Given the description of an element on the screen output the (x, y) to click on. 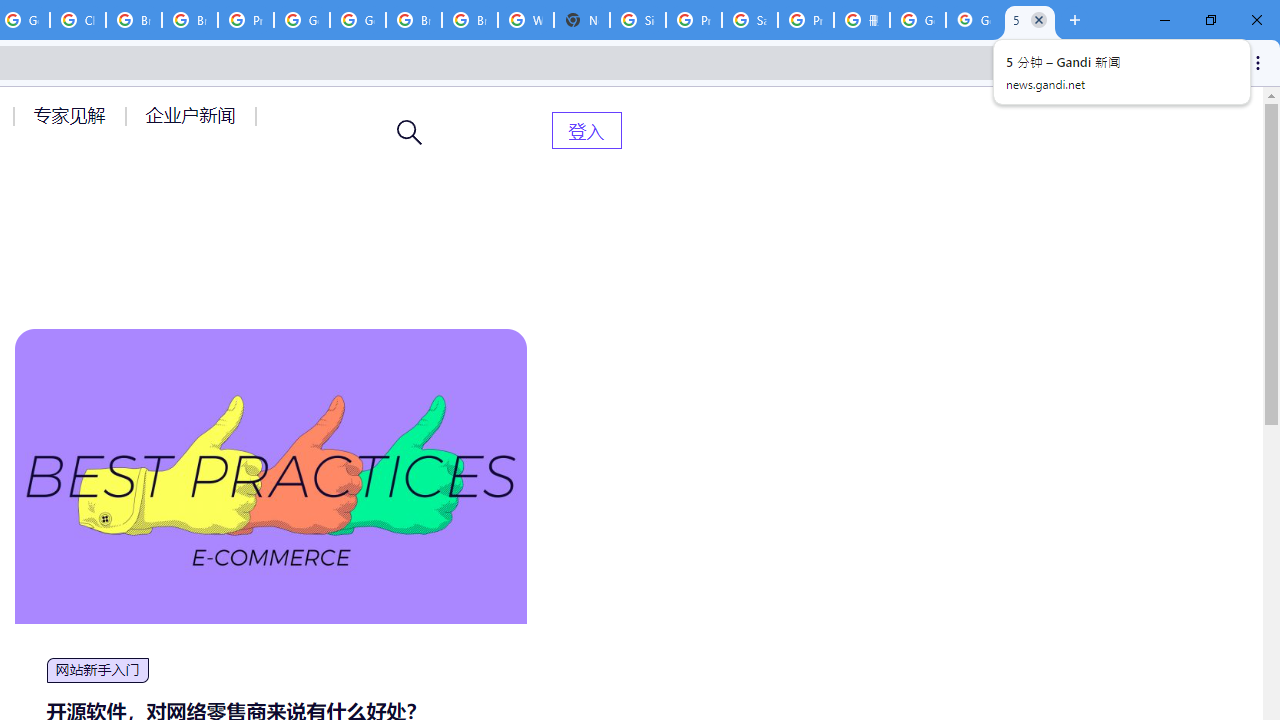
New Tab (582, 20)
Google Cloud Platform (358, 20)
